Given the description of an element on the screen output the (x, y) to click on. 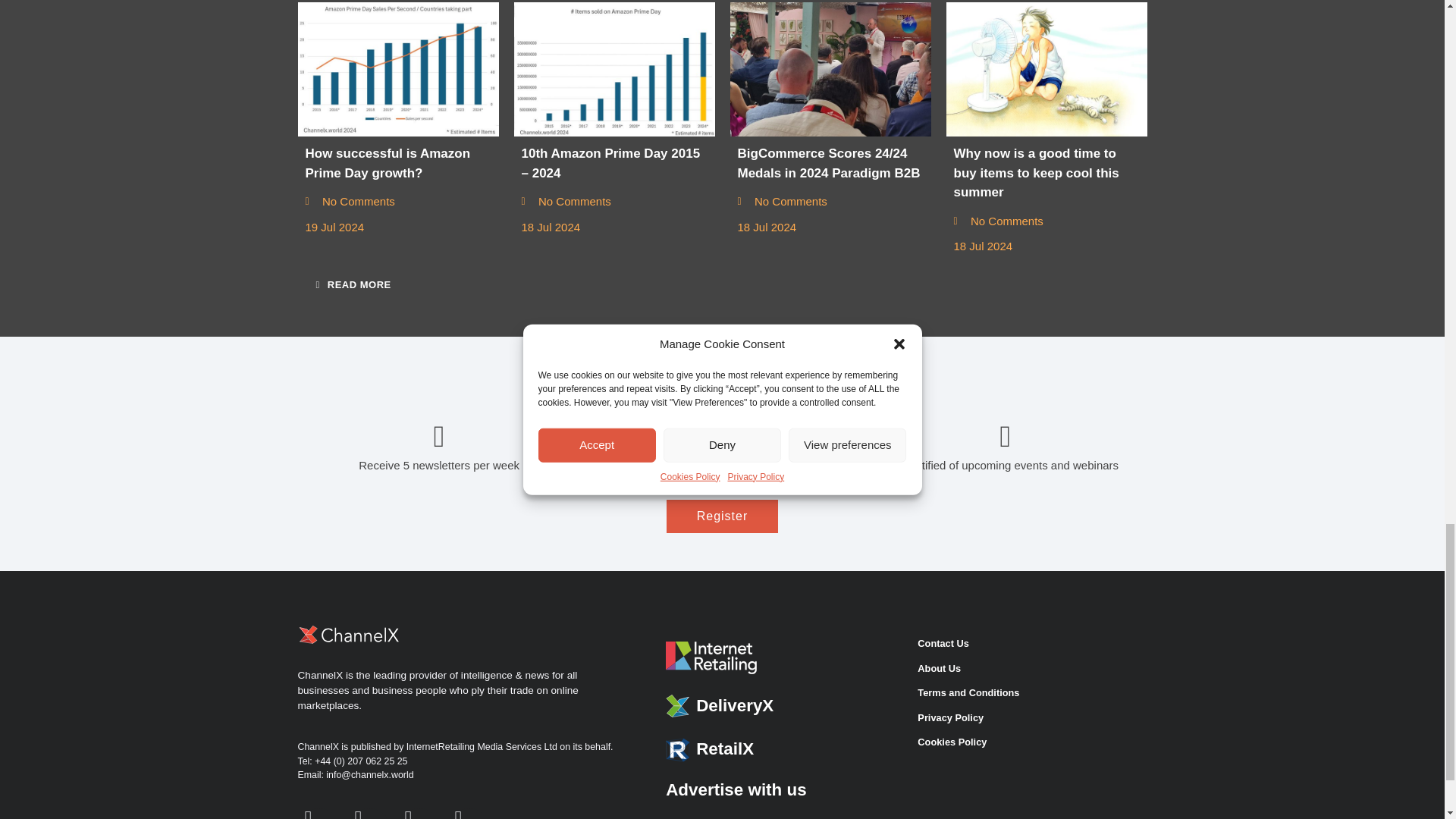
Why now is a good time to buy items to keep cool this summer (1046, 69)
How successful is Amazon Prime Day growth (397, 69)
BigCommerce Scores 24 out of 24 Medals in 2024 Paradigm B2B (829, 69)
